Given the description of an element on the screen output the (x, y) to click on. 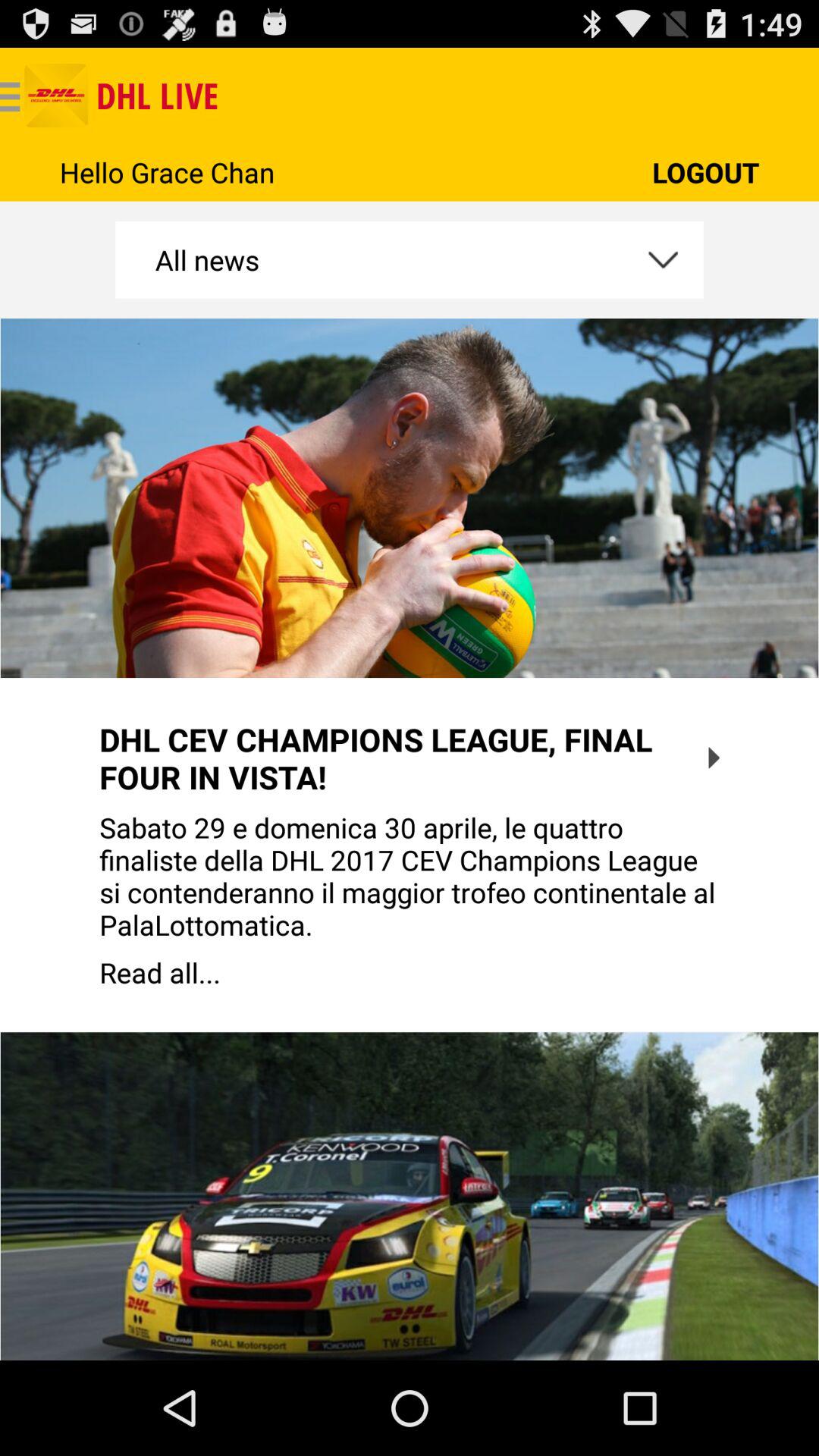
turn off sabato 29 e icon (409, 875)
